Given the description of an element on the screen output the (x, y) to click on. 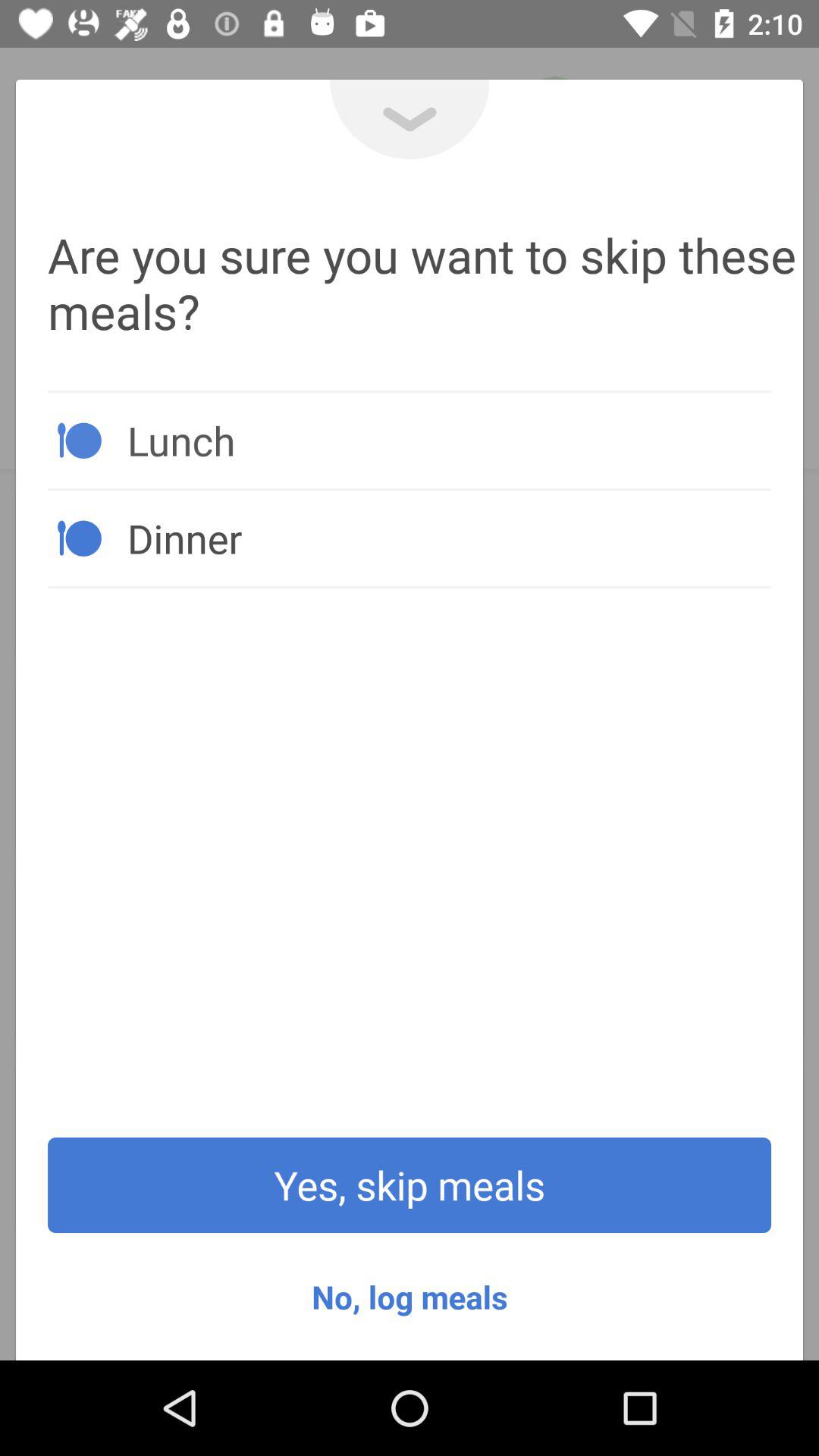
select the item below the yes, skip meals icon (409, 1296)
